Given the description of an element on the screen output the (x, y) to click on. 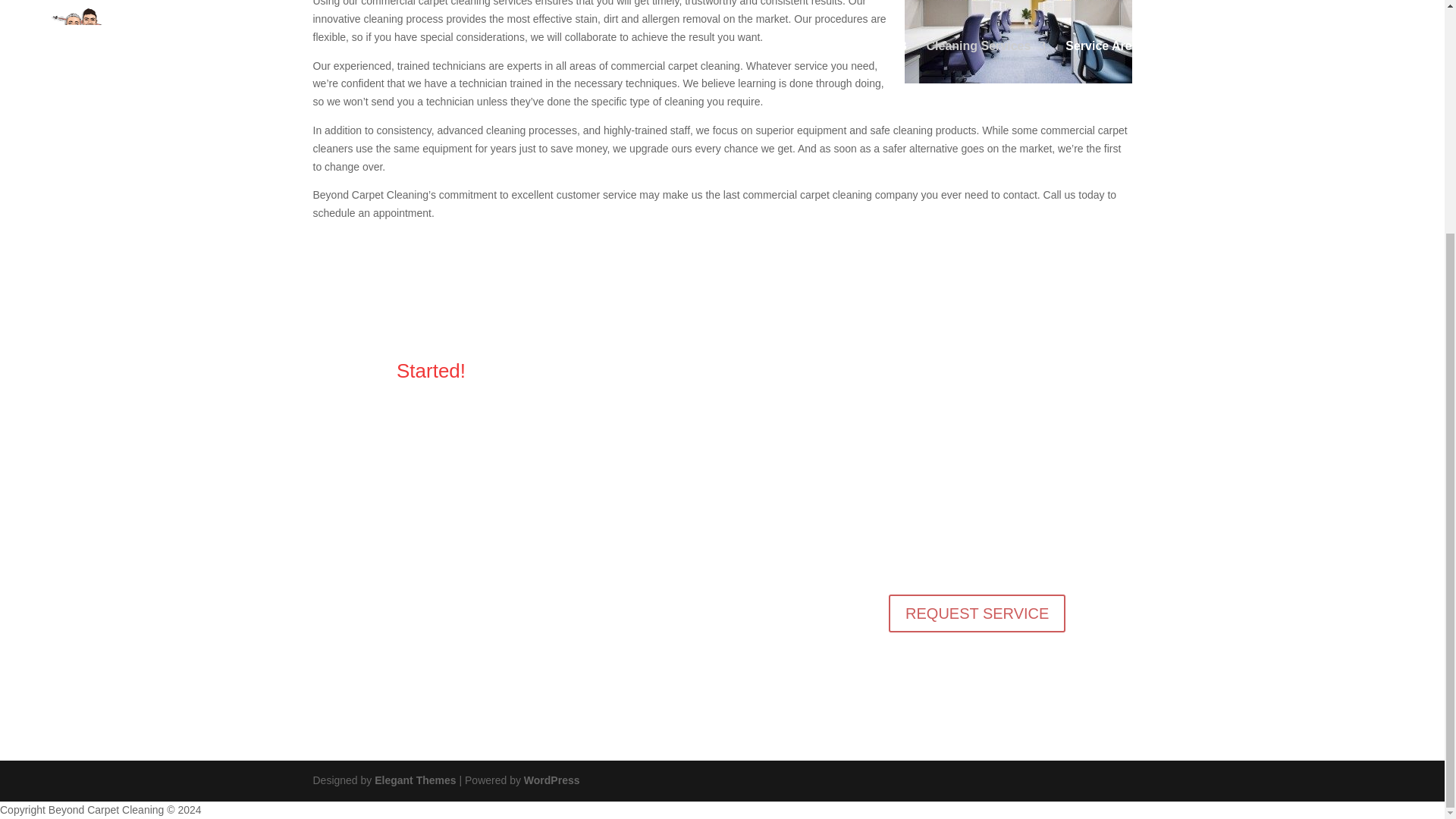
REQUEST SERVICE (976, 613)
Premium WordPress Themes (414, 779)
Request Service Now! (404, 450)
Follow on LinkedIn (961, 666)
Follow on Facebook (930, 666)
WordPress (551, 779)
Elegant Themes (414, 779)
